Given the description of an element on the screen output the (x, y) to click on. 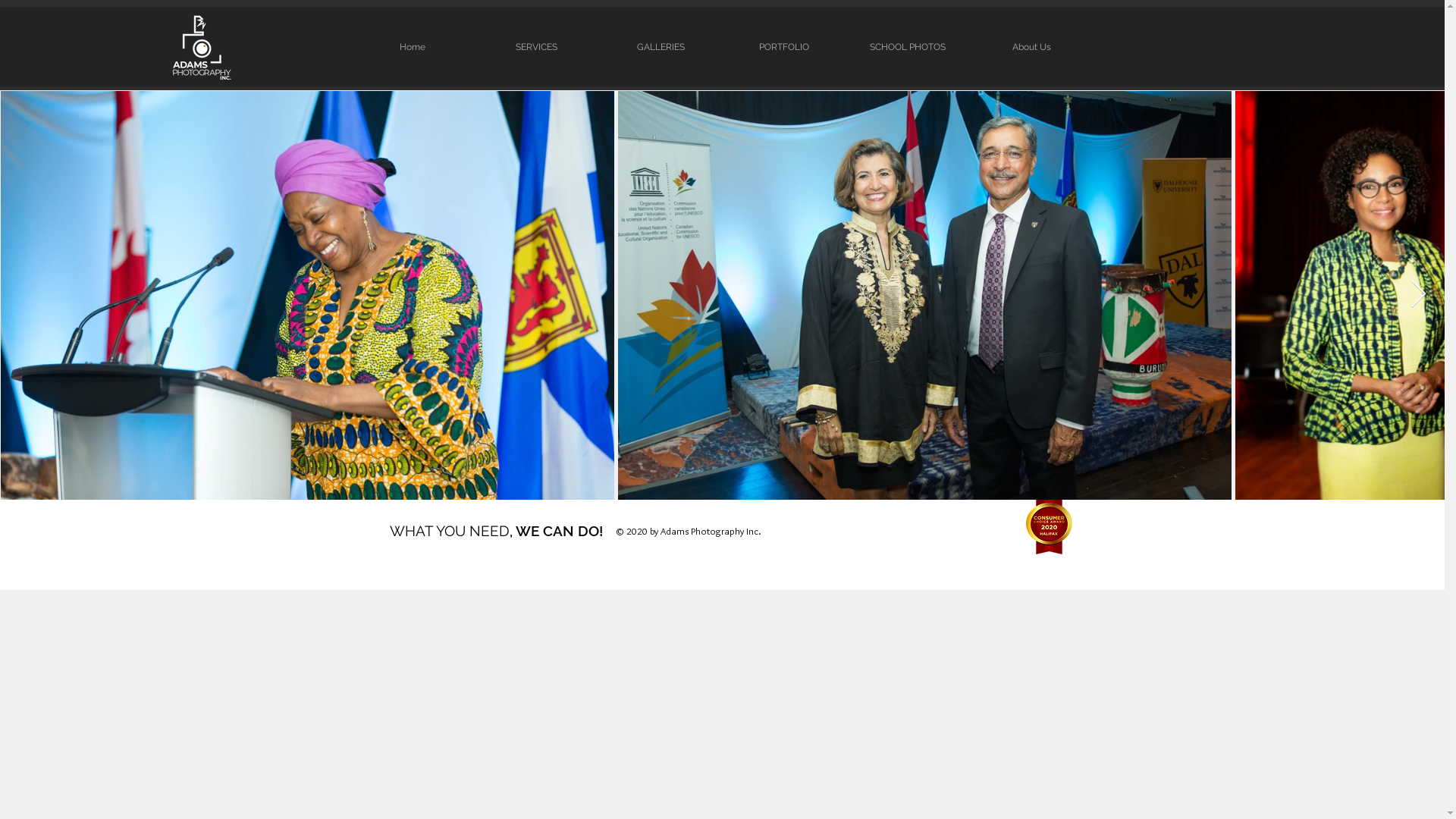
About Us Element type: text (1030, 47)
PORTFOLIO Element type: text (783, 47)
GALLERIES Element type: text (660, 47)
SCHOOL PHOTOS Element type: text (907, 47)
Home Element type: text (412, 47)
SERVICES Element type: text (536, 47)
